Given the description of an element on the screen output the (x, y) to click on. 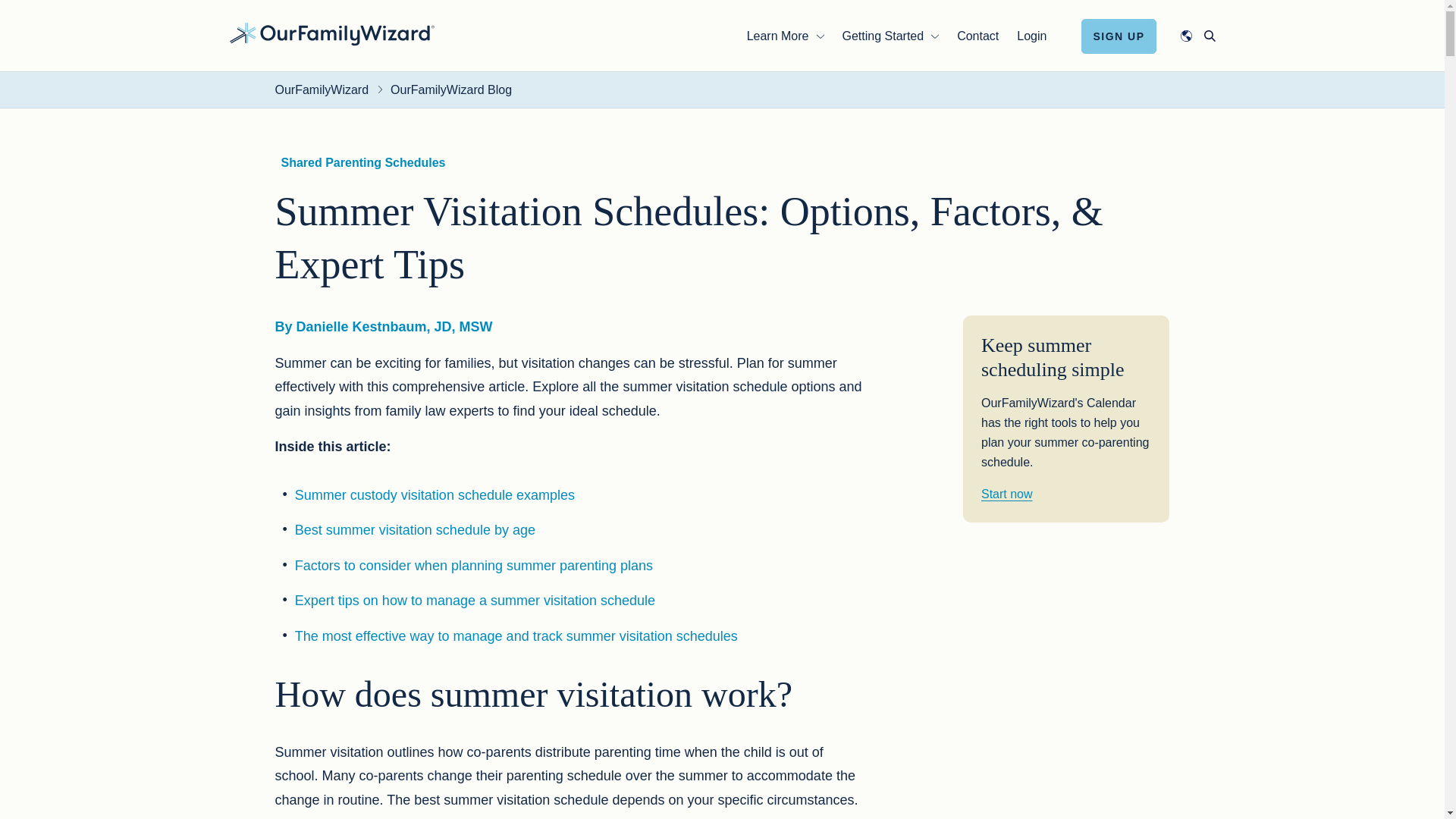
SIGN UP (1118, 35)
OurFamilyWizard (330, 32)
Contact (977, 35)
